Given the description of an element on the screen output the (x, y) to click on. 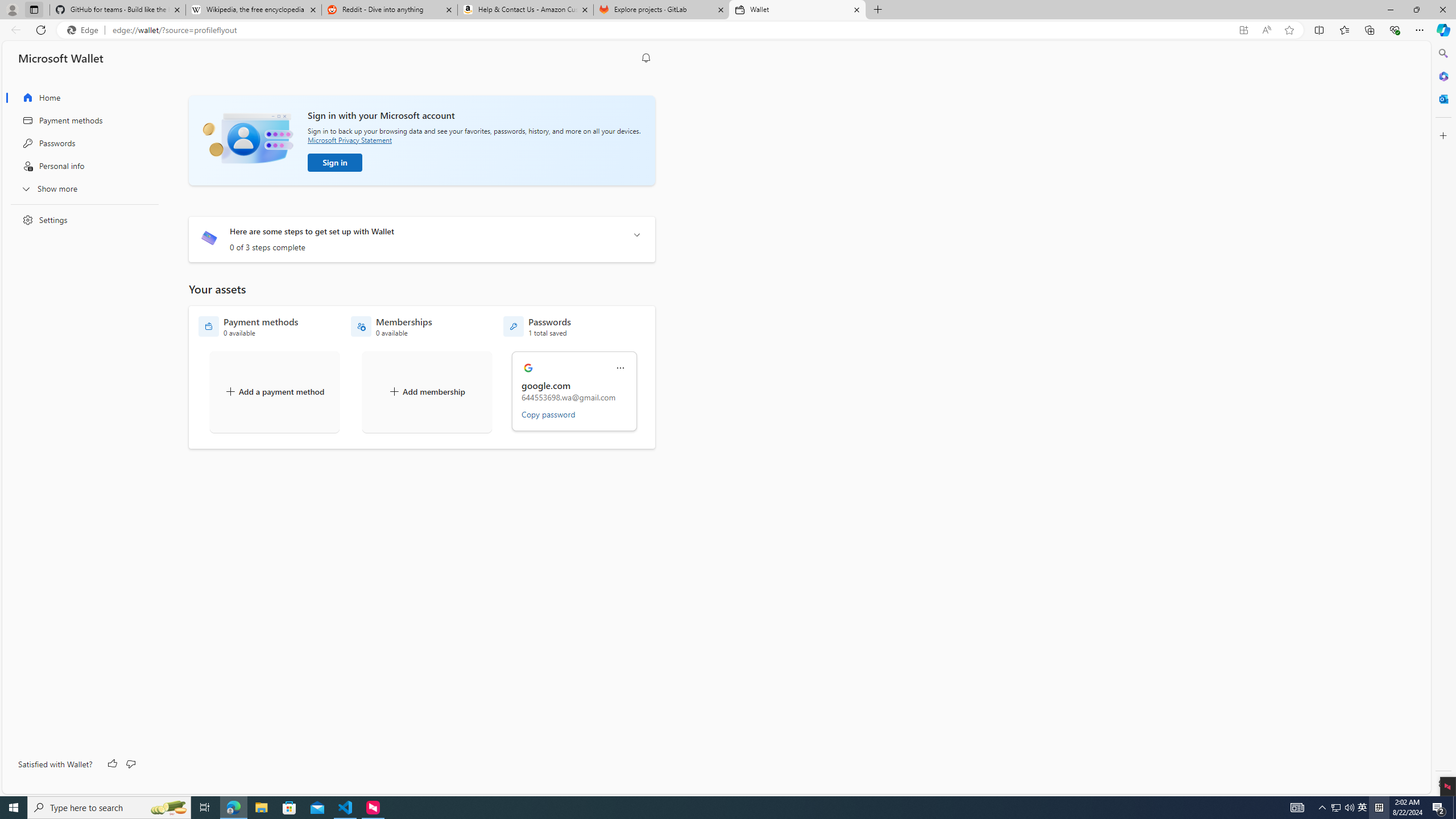
Reddit - Dive into anything (390, 9)
Add a payment method (274, 391)
Show more (81, 188)
App available. Install Microsoft Wallet (1243, 29)
Payment methods - 0 available (248, 326)
